Given the description of an element on the screen output the (x, y) to click on. 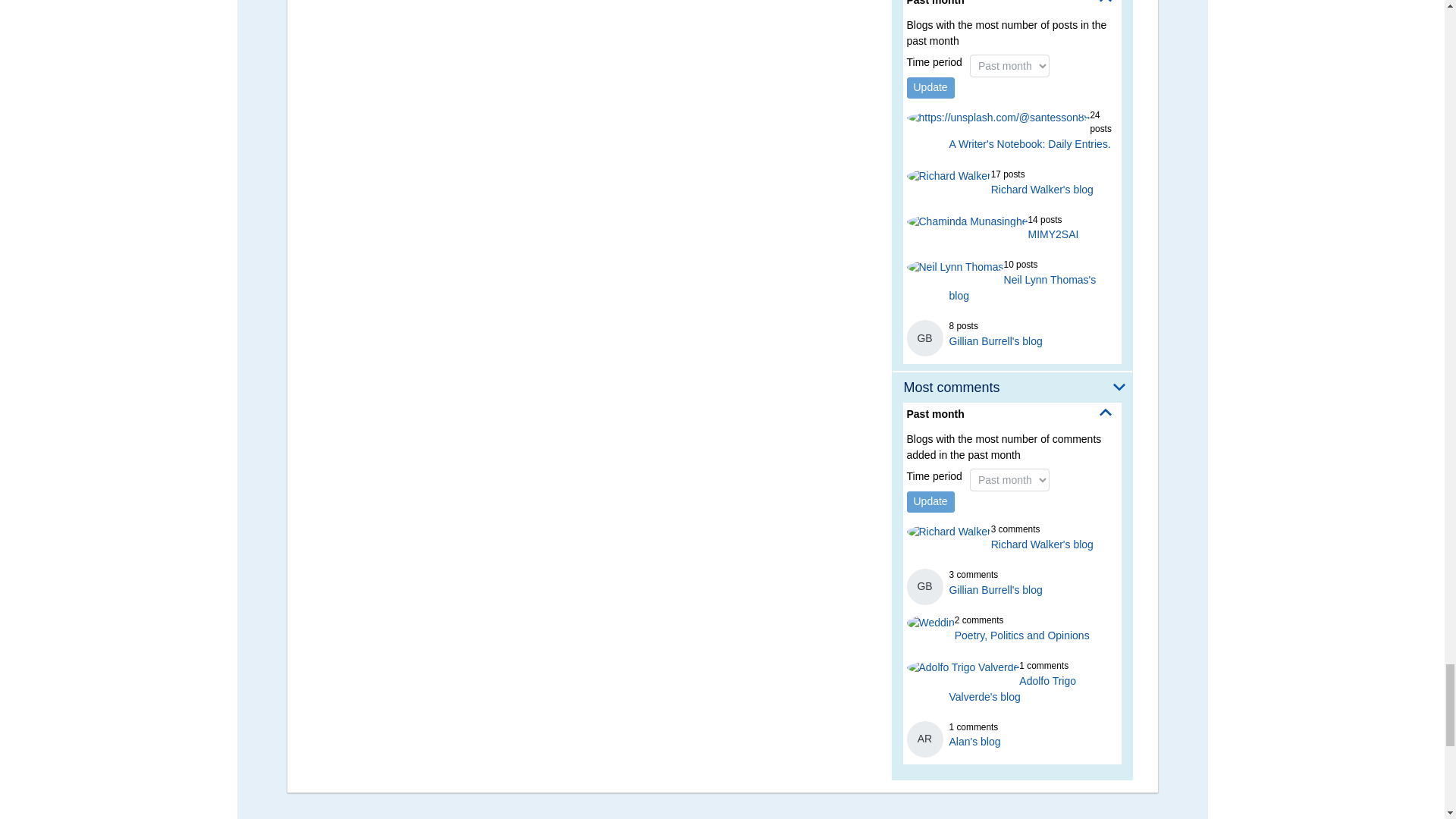
Update (931, 87)
Update (931, 501)
